Given the description of an element on the screen output the (x, y) to click on. 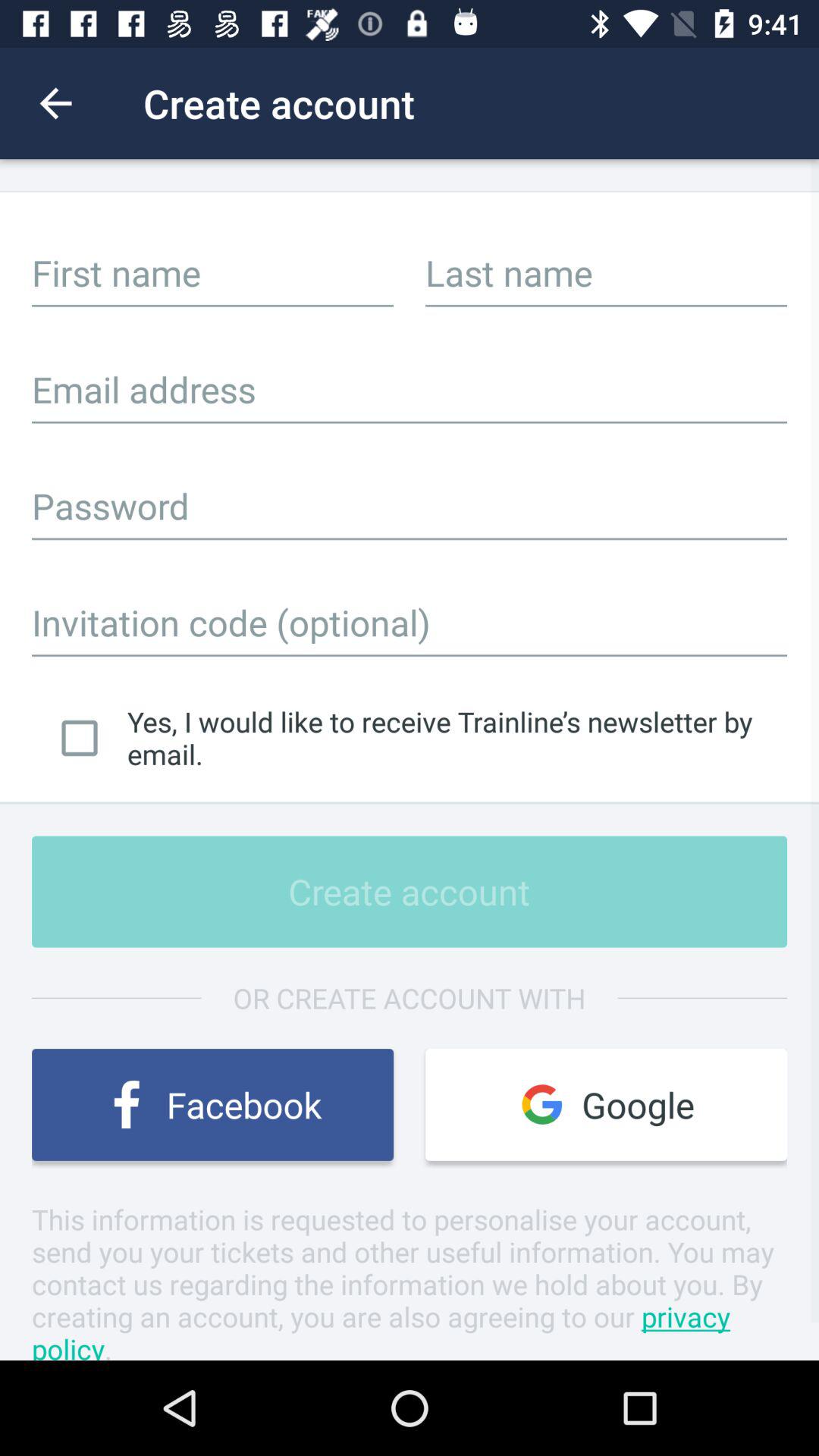
input first name (212, 272)
